Given the description of an element on the screen output the (x, y) to click on. 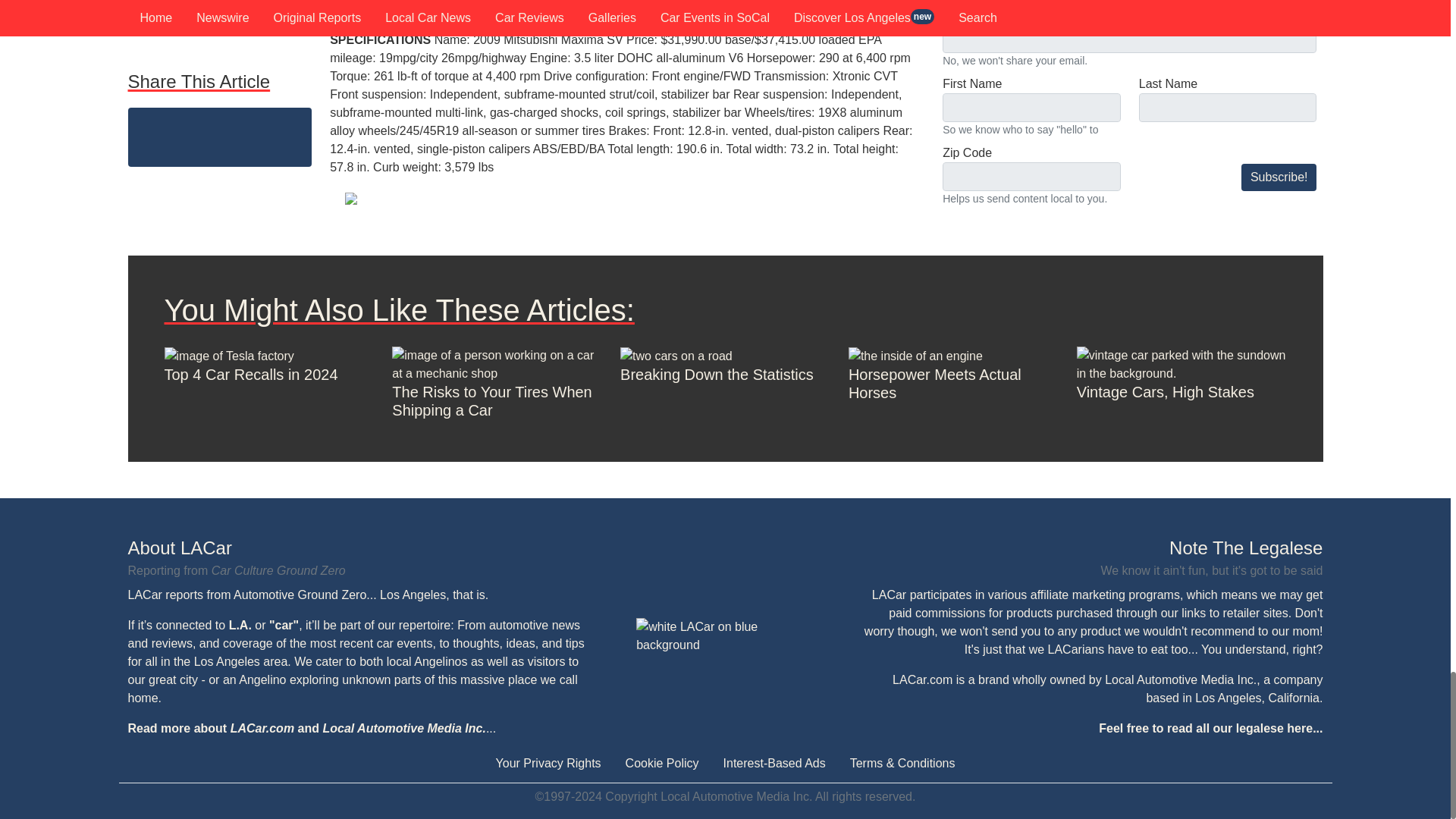
Feel free to read all our legalese here... (1210, 727)
Read more about LACar.com and Local Automotive Media Inc. (306, 727)
About LACar (358, 547)
